Given the description of an element on the screen output the (x, y) to click on. 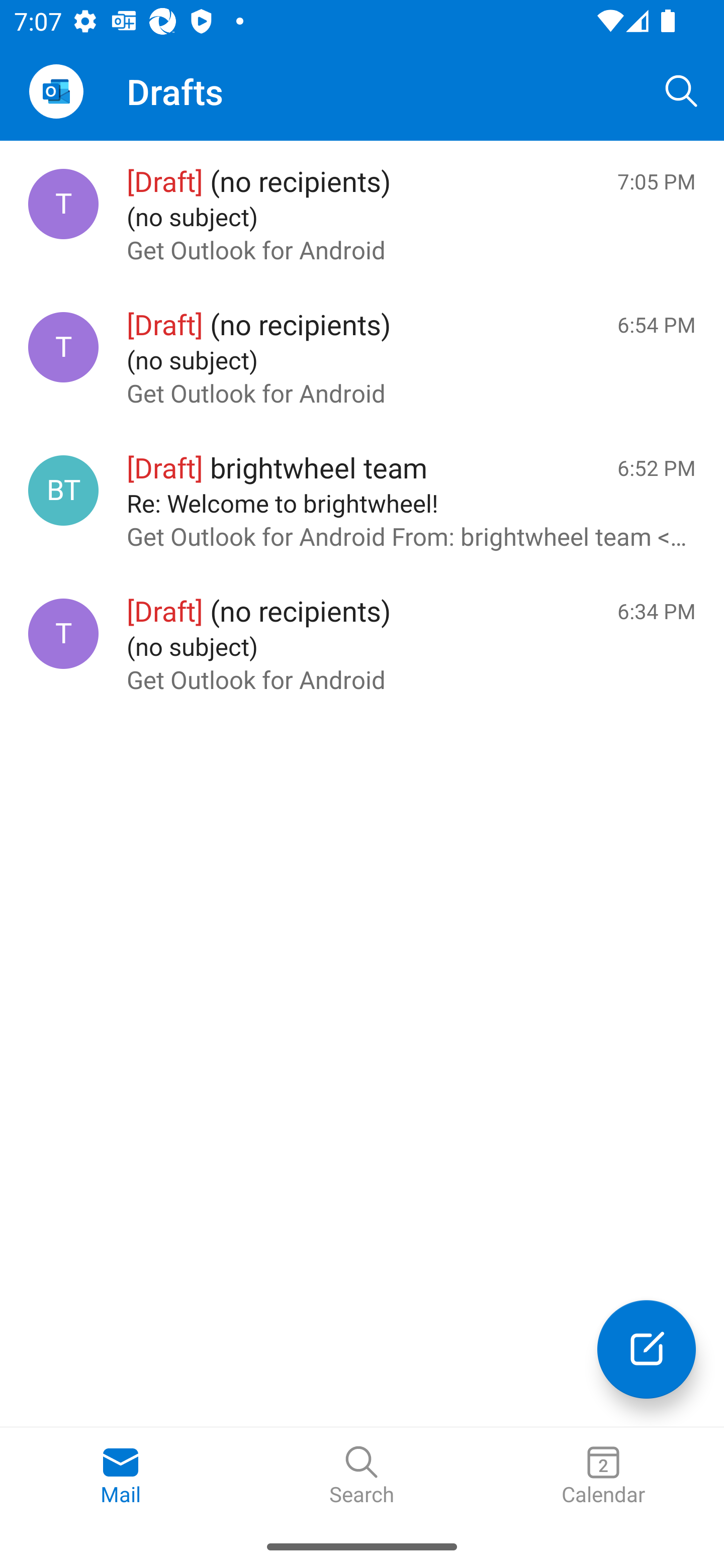
Search (681, 90)
Open Navigation Drawer (55, 91)
testappium001@outlook.com (63, 204)
testappium001@outlook.com (63, 347)
brightwheel team, testappium001@outlook.com (63, 489)
testappium001@outlook.com (63, 633)
Compose (646, 1348)
Search (361, 1475)
Calendar (603, 1475)
